Given the description of an element on the screen output the (x, y) to click on. 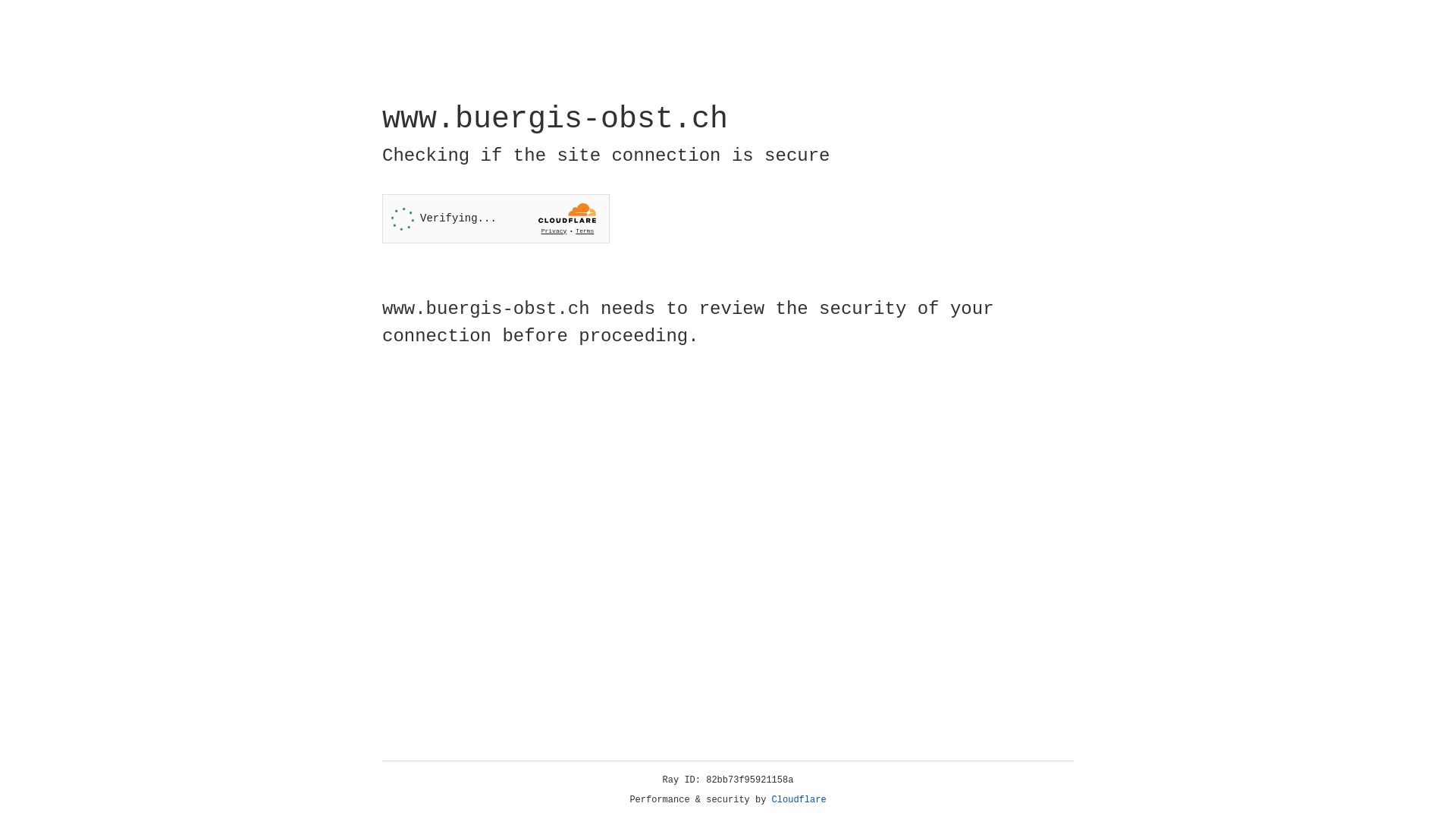
Widget containing a Cloudflare security challenge Element type: hover (495, 218)
Cloudflare Element type: text (798, 799)
